Given the description of an element on the screen output the (x, y) to click on. 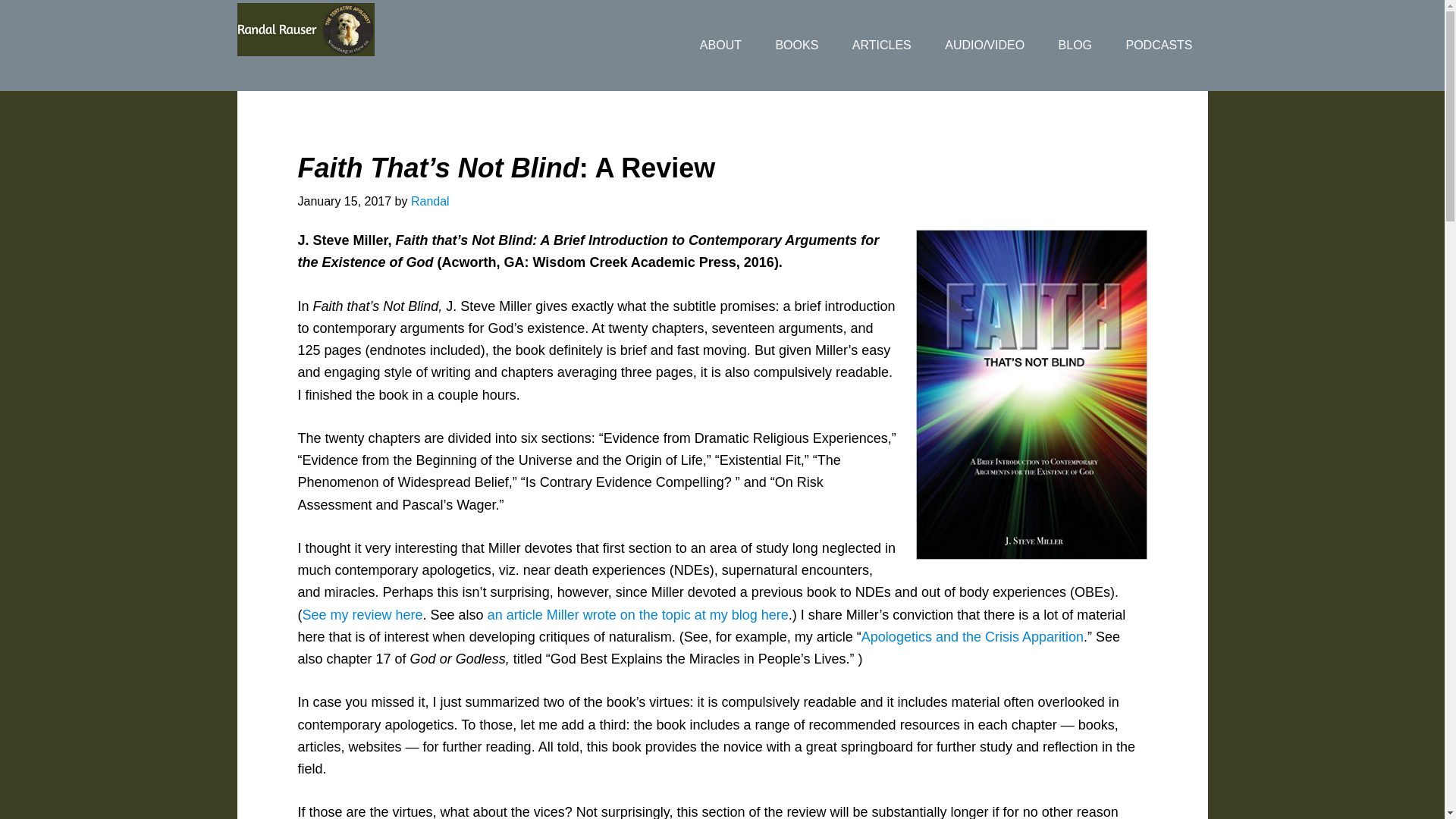
See my review here (361, 614)
Randal (429, 201)
Randal Rauser (357, 29)
Apologetics and the Crisis Apparition (972, 636)
ARTICLES (881, 45)
PODCASTS (1158, 45)
an article Miller wrote on the topic at my blog here (638, 614)
